Given the description of an element on the screen output the (x, y) to click on. 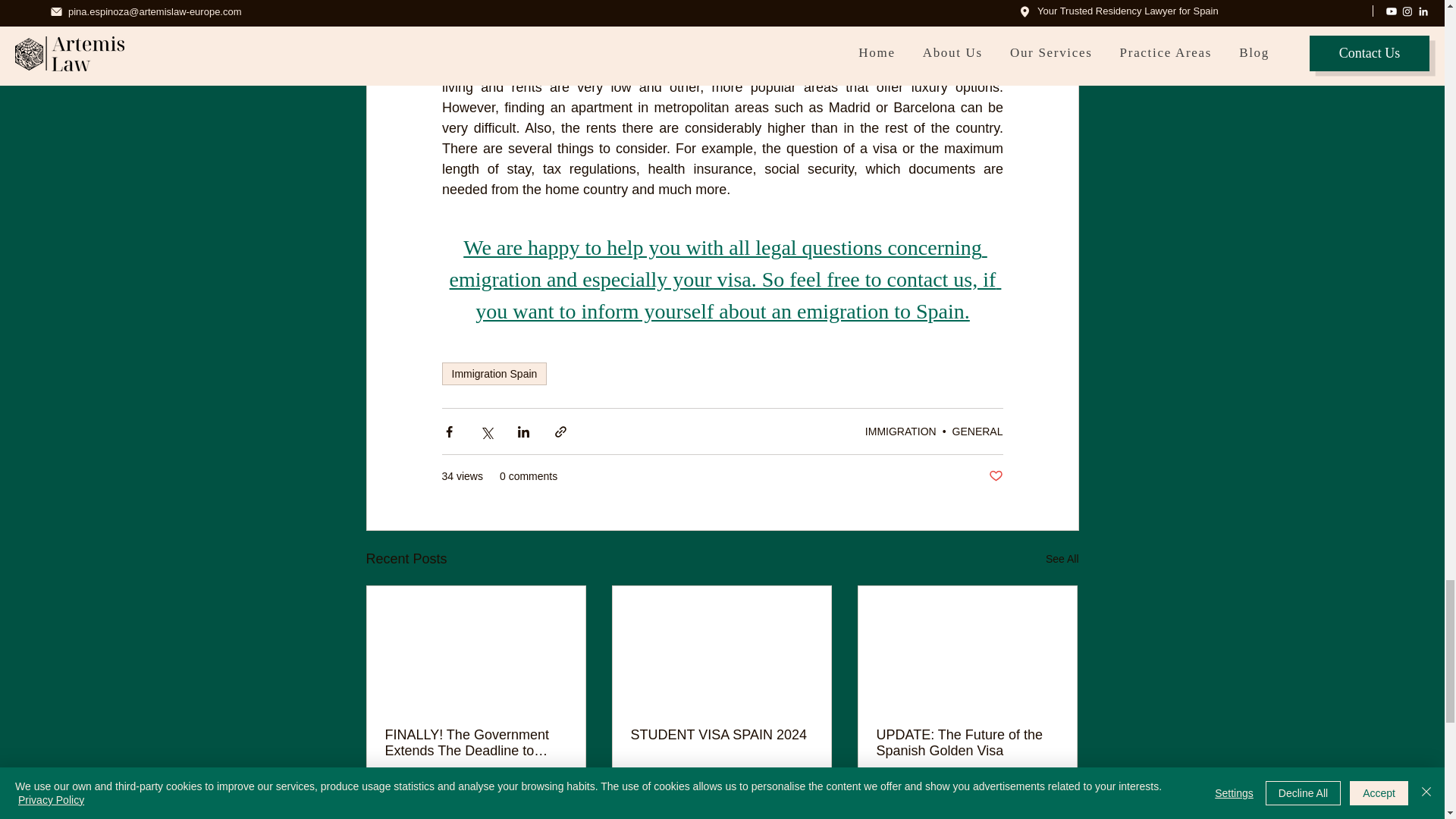
Immigration Spain (494, 373)
See All (555, 796)
0 (1061, 558)
Post not marked as liked (440, 796)
GENERAL (995, 476)
IMMIGRATION (977, 431)
